Given the description of an element on the screen output the (x, y) to click on. 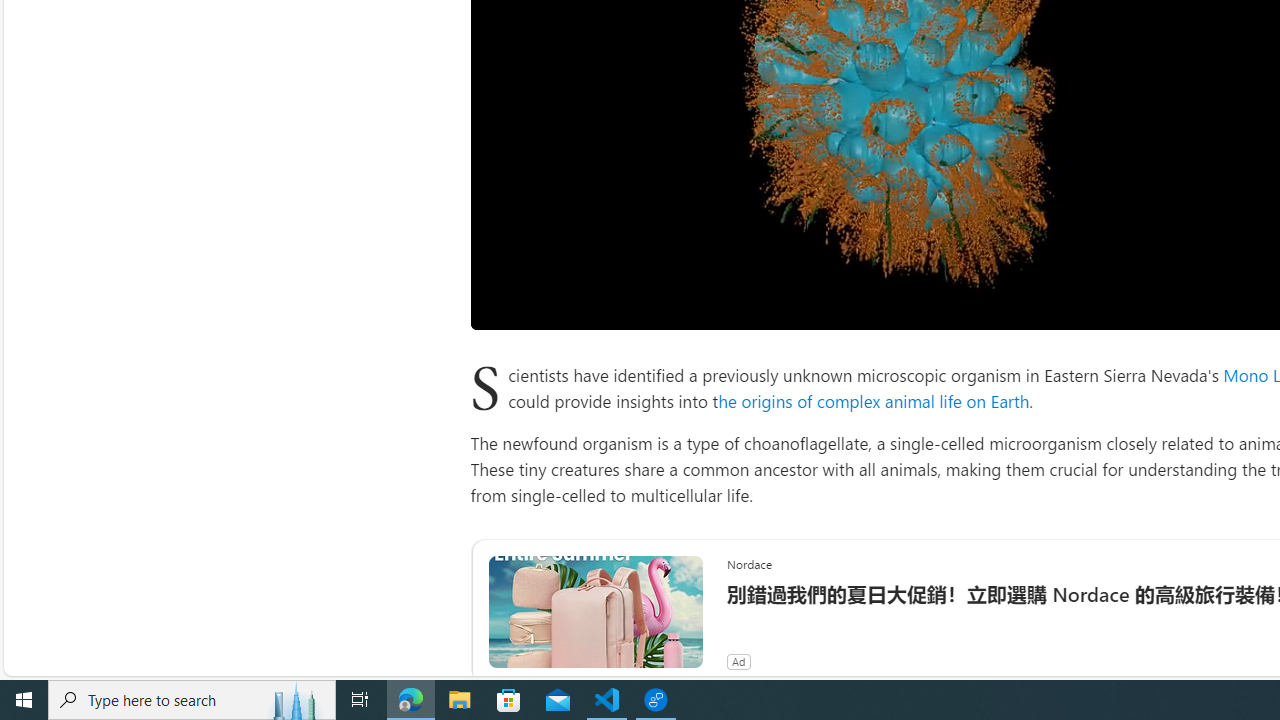
Pause (500, 306)
Seek Back (539, 306)
Quality Settings (1196, 306)
he origins of complex animal life on Earth (874, 399)
Ad (738, 661)
Seek Forward (580, 306)
Captions (1236, 306)
